Given the description of an element on the screen output the (x, y) to click on. 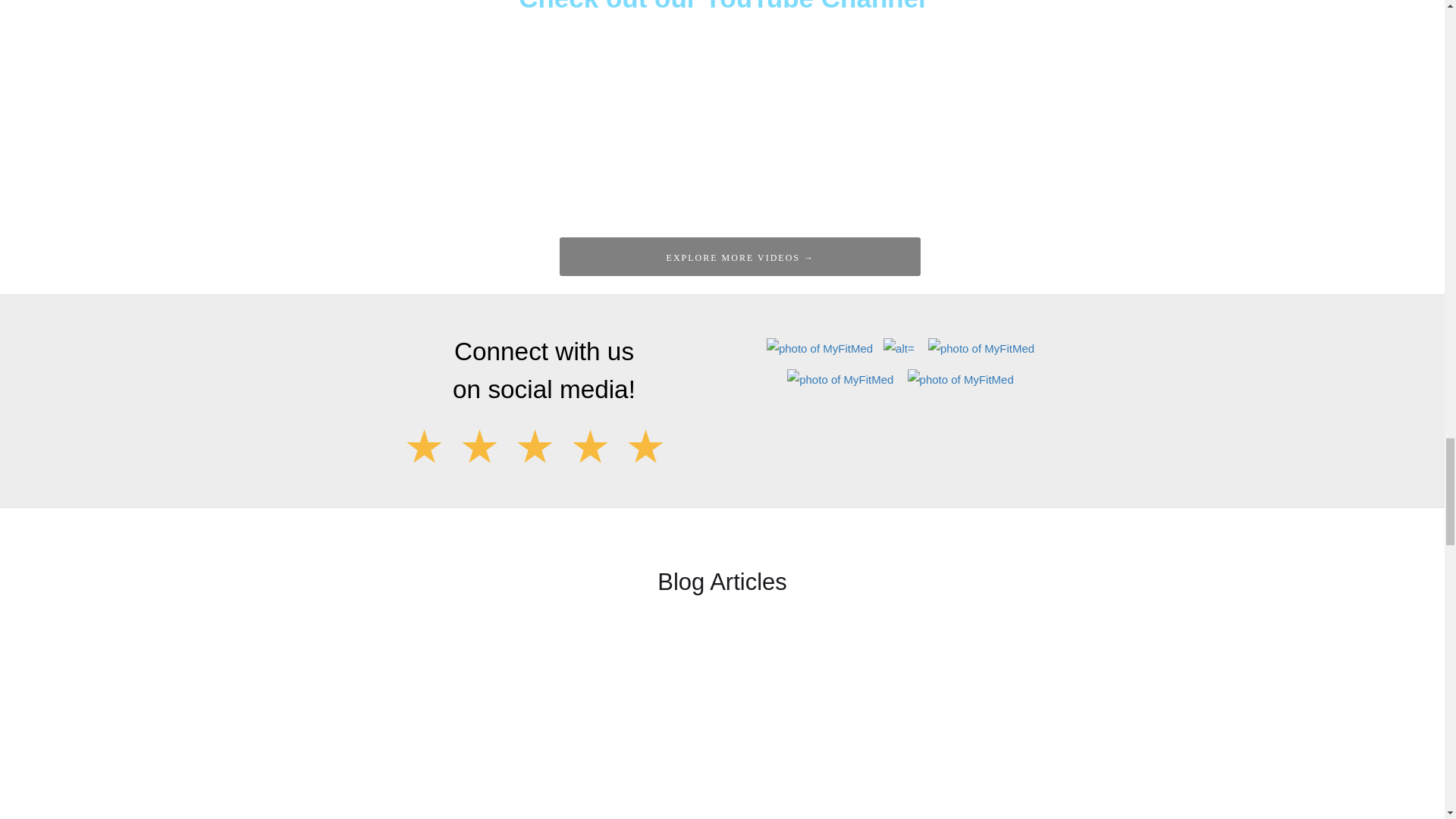
YouTube video player (1203, 112)
YouTube video player (722, 112)
YouTube video player (240, 112)
